Given the description of an element on the screen output the (x, y) to click on. 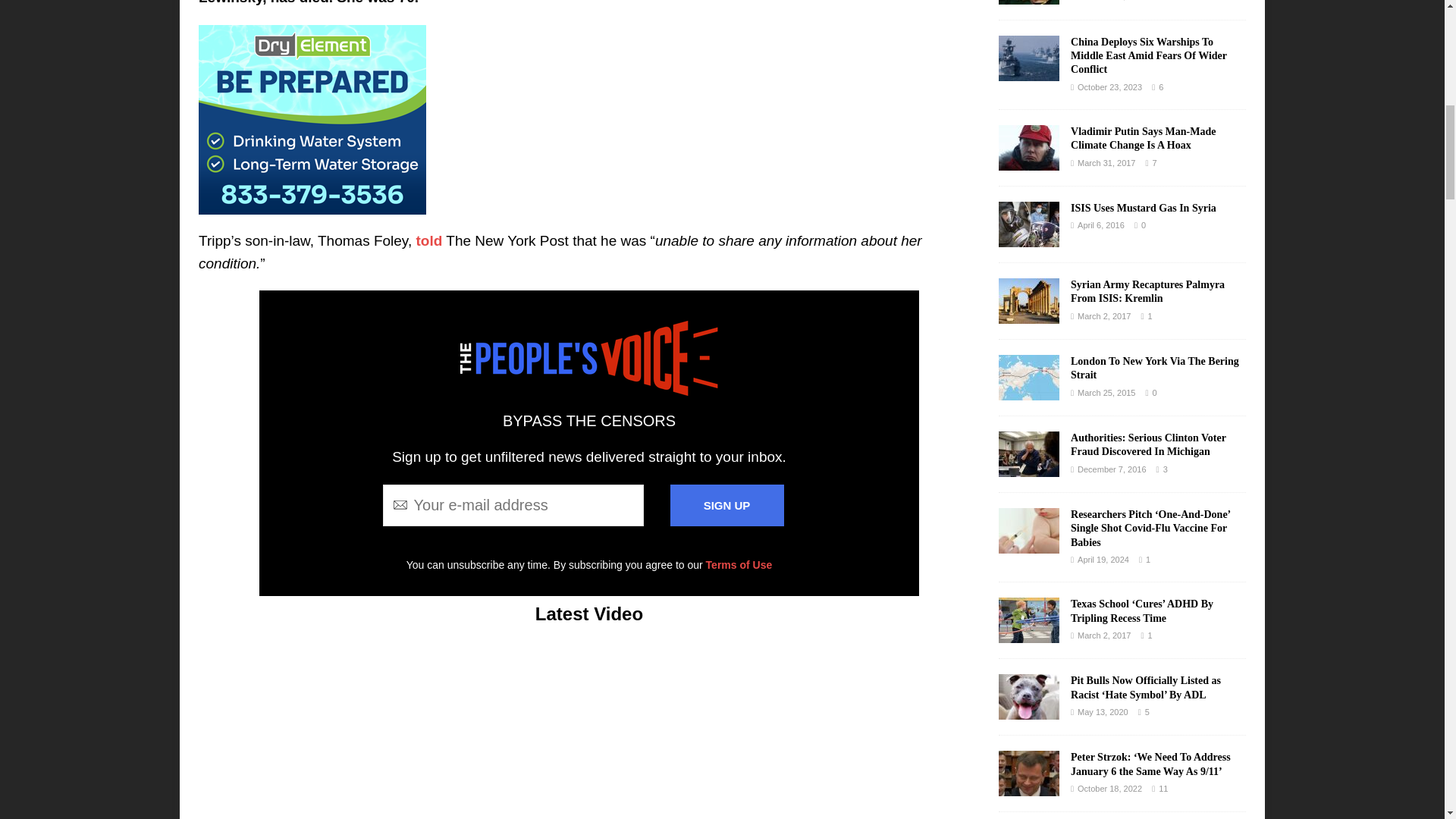
SIGN UP (726, 505)
